Given the description of an element on the screen output the (x, y) to click on. 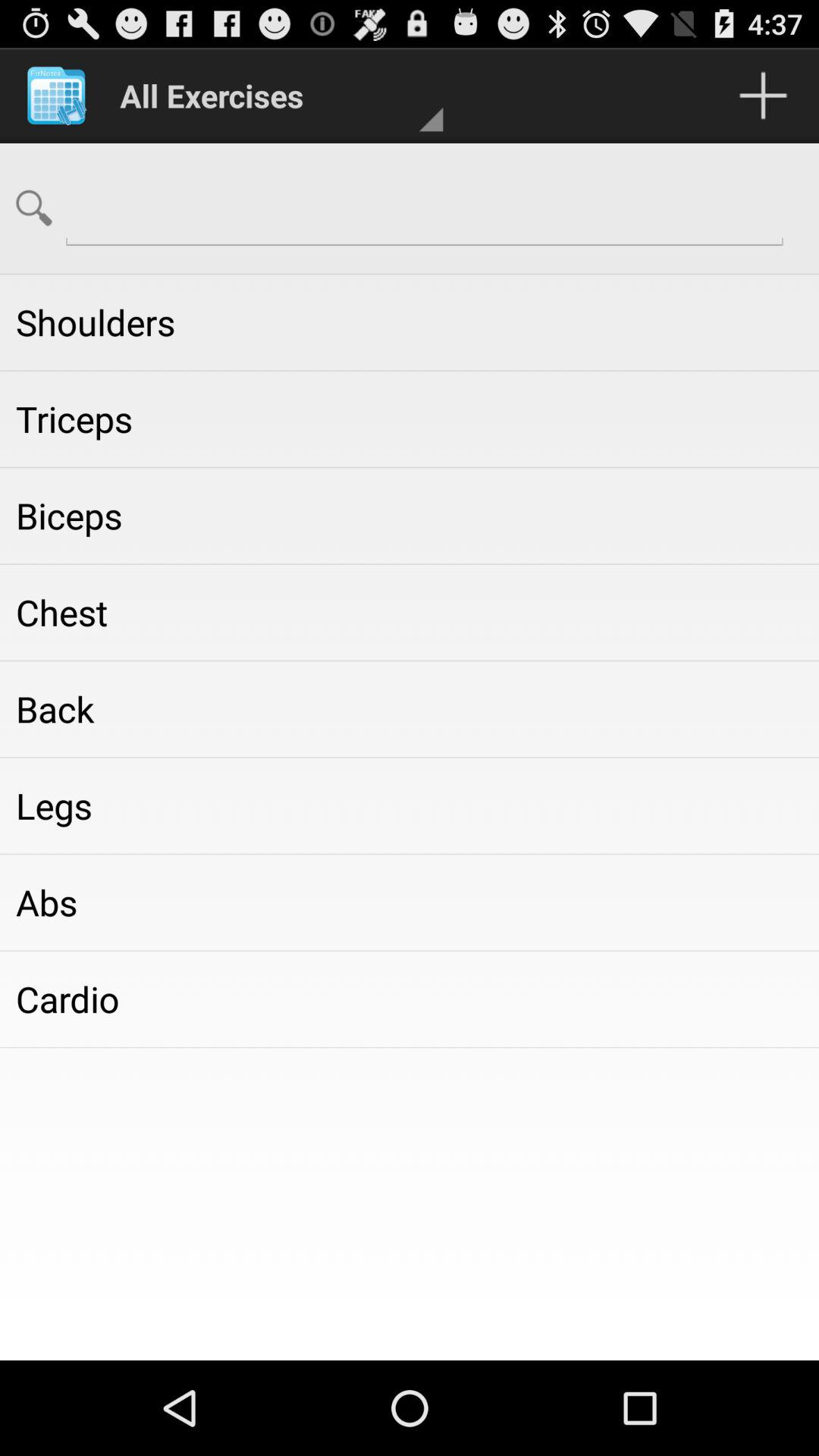
click to search option (424, 206)
